Given the description of an element on the screen output the (x, y) to click on. 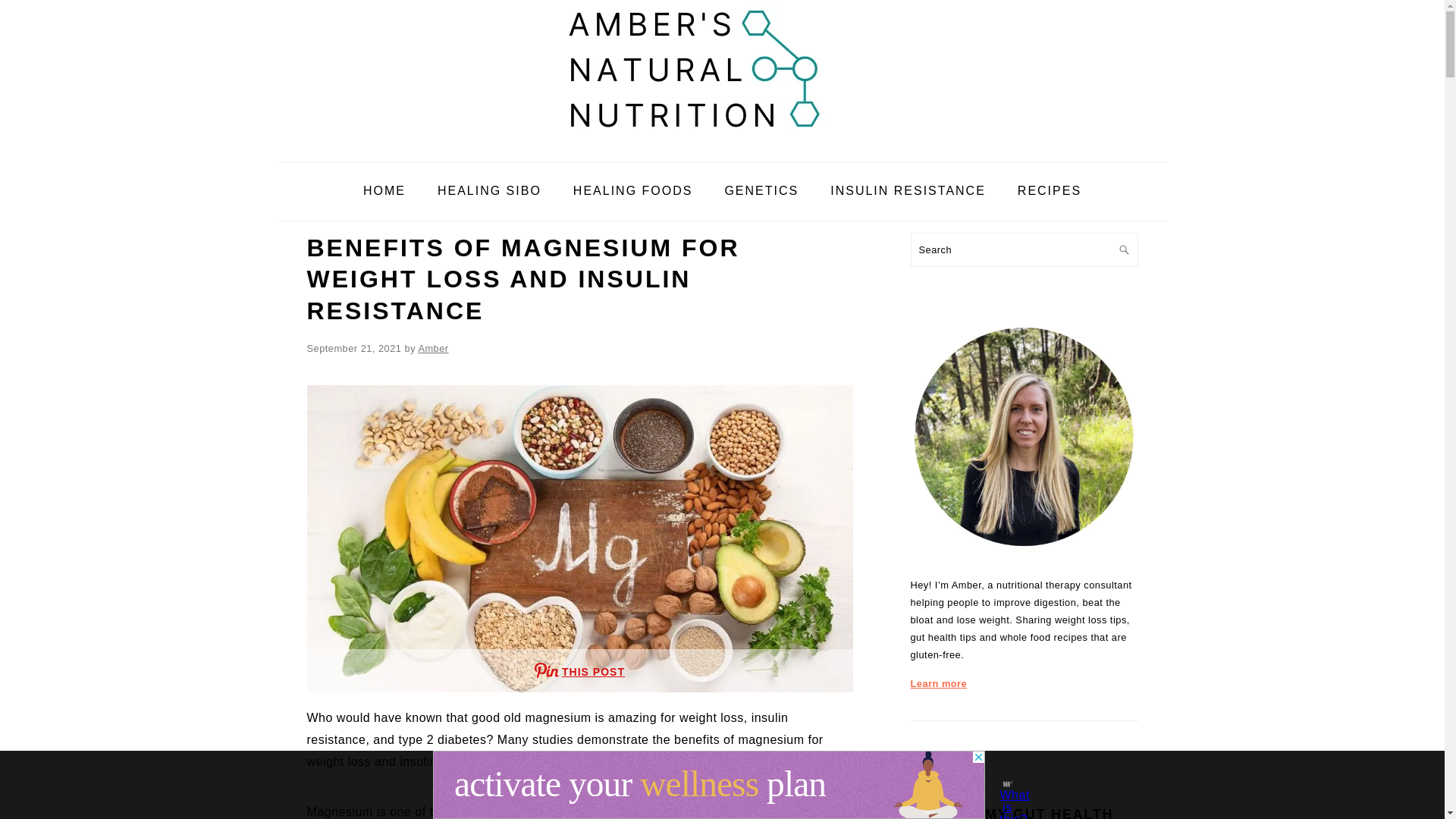
HOME (384, 191)
Amber (432, 348)
THIS POST (578, 670)
RECIPES (1049, 191)
GENETICS (760, 191)
Amber's Natural Nutrition (722, 70)
HEALING FOODS (633, 191)
INSULIN RESISTANCE (907, 191)
HEALING SIBO (489, 191)
3rd party ad content (708, 785)
Amber's Natural Nutrition (722, 149)
